Given the description of an element on the screen output the (x, y) to click on. 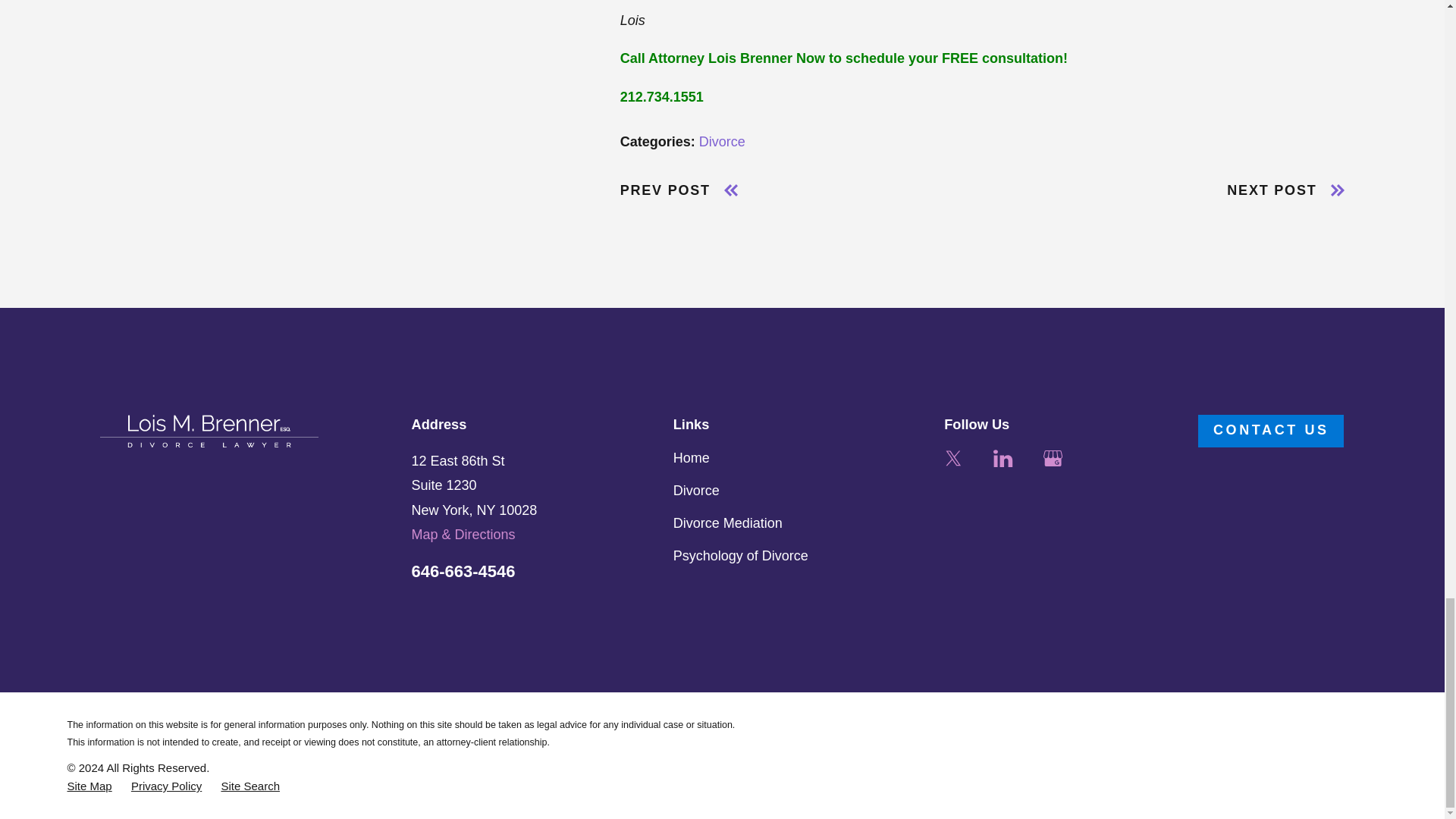
Google Business Profile (1052, 457)
Home (209, 430)
Twitter (952, 457)
LinkedIn (1001, 457)
